Given the description of an element on the screen output the (x, y) to click on. 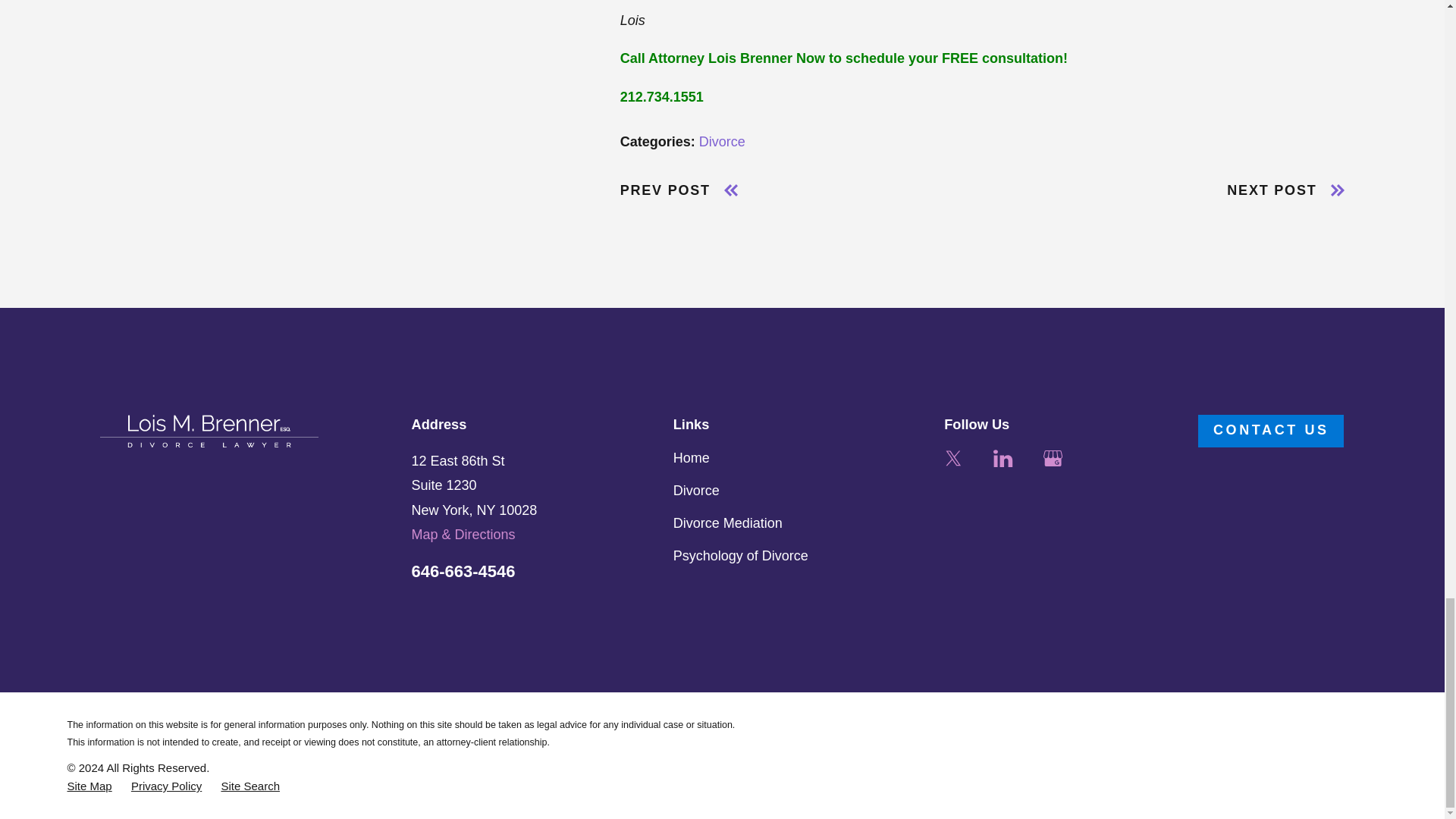
Google Business Profile (1052, 457)
Home (209, 430)
Twitter (952, 457)
LinkedIn (1001, 457)
